Given the description of an element on the screen output the (x, y) to click on. 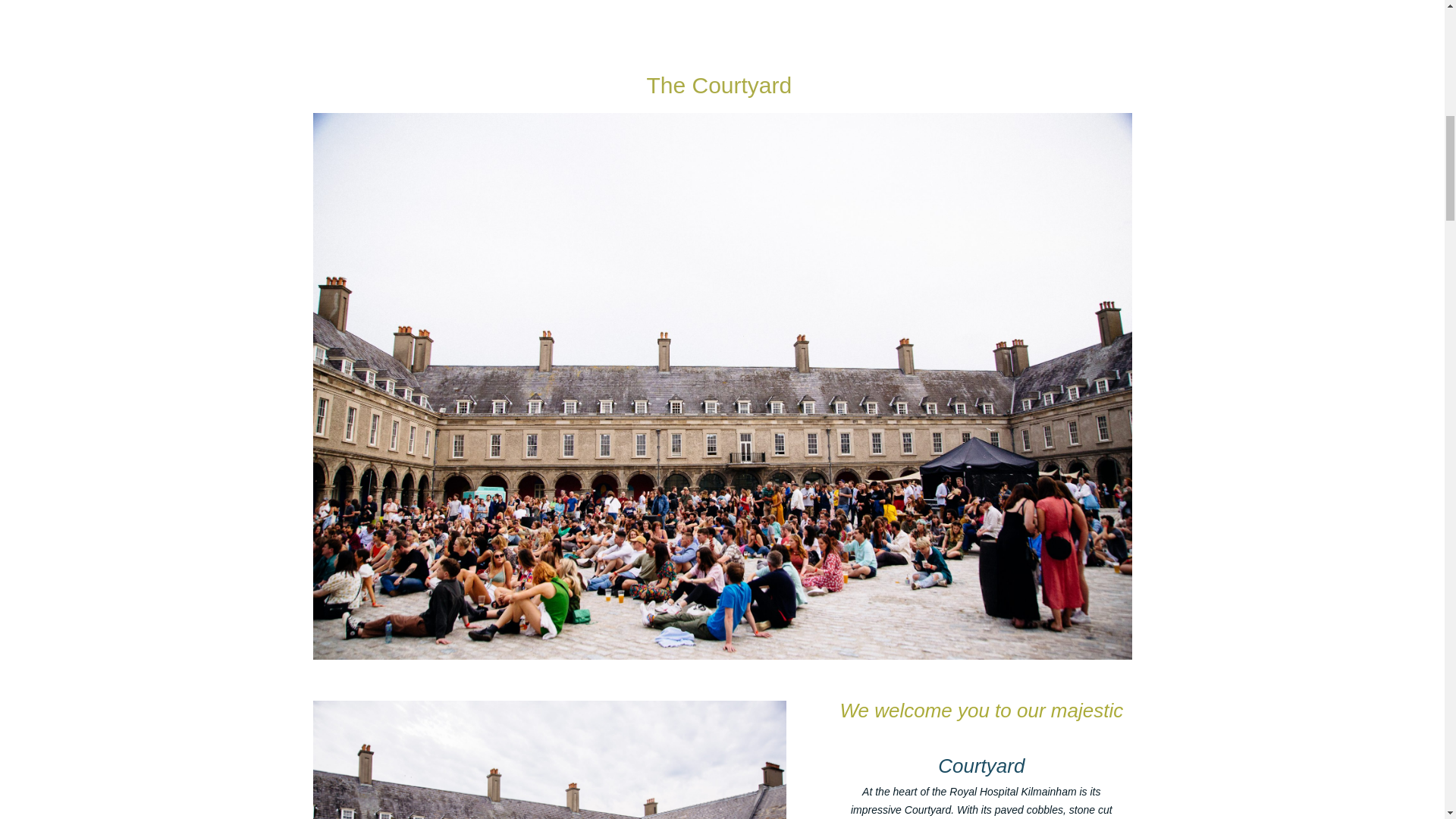
IMMA Sat-10 (549, 760)
Image 2.. (722, 655)
